Given the description of an element on the screen output the (x, y) to click on. 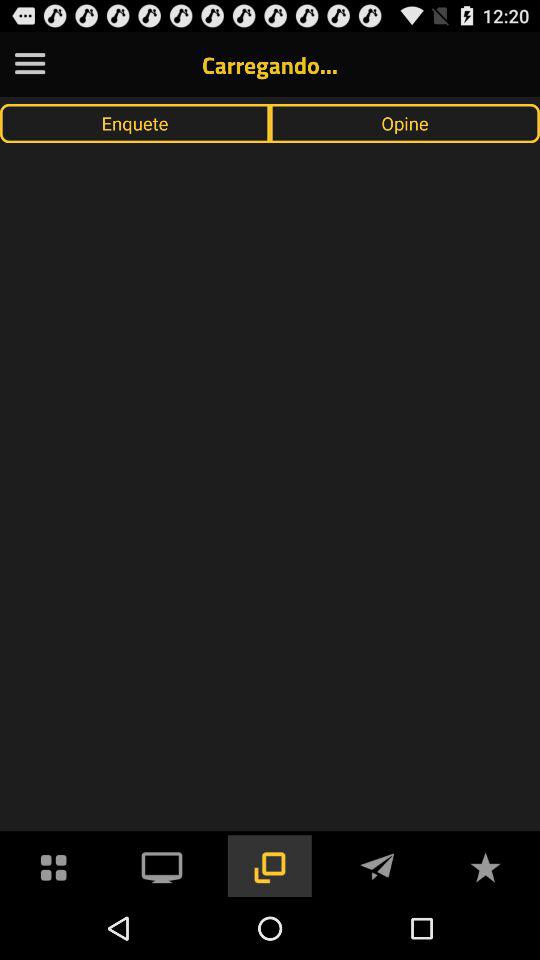
access page (269, 865)
